Given the description of an element on the screen output the (x, y) to click on. 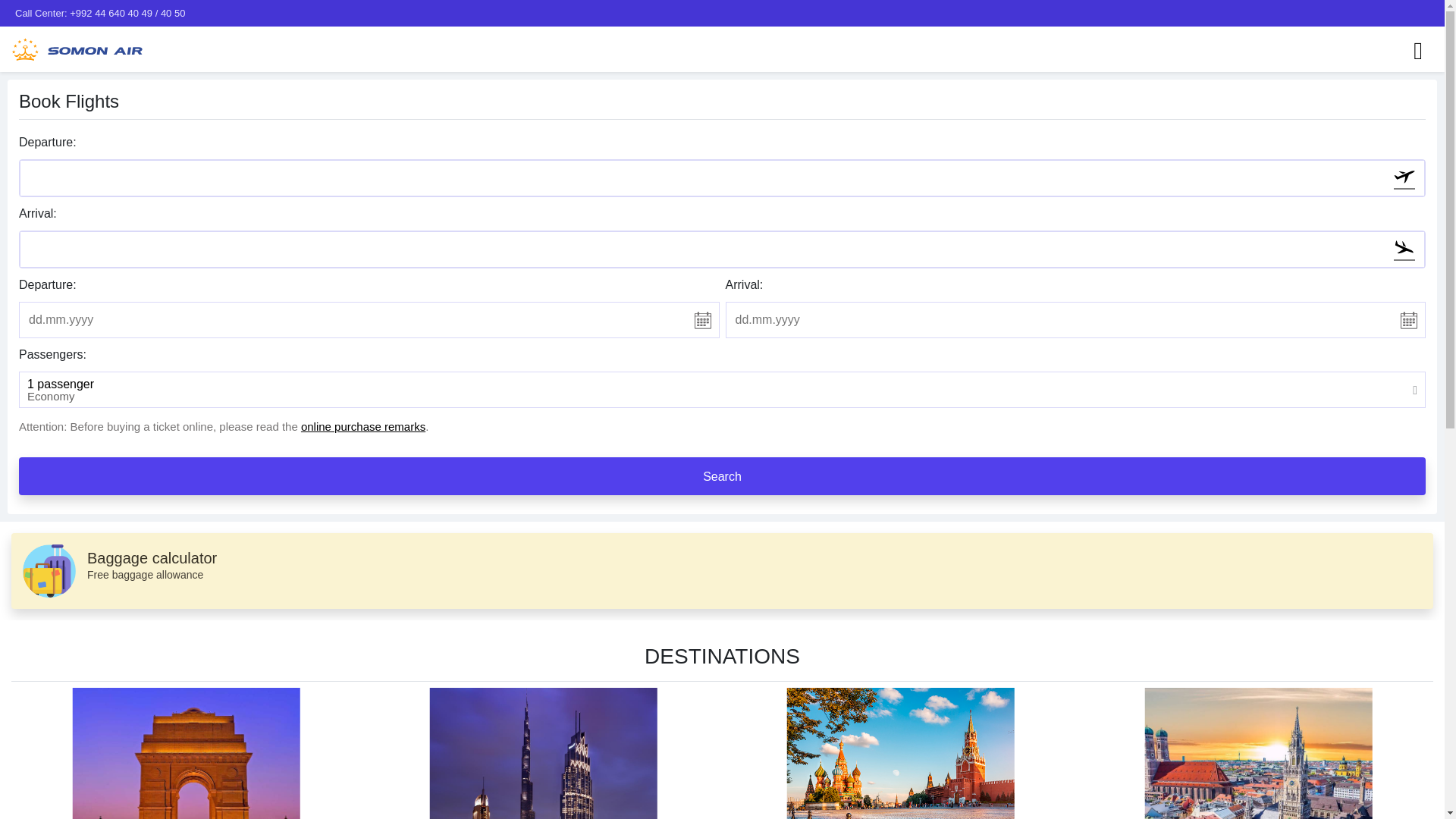
Search (721, 476)
online purchase remarks (363, 426)
